Given the description of an element on the screen output the (x, y) to click on. 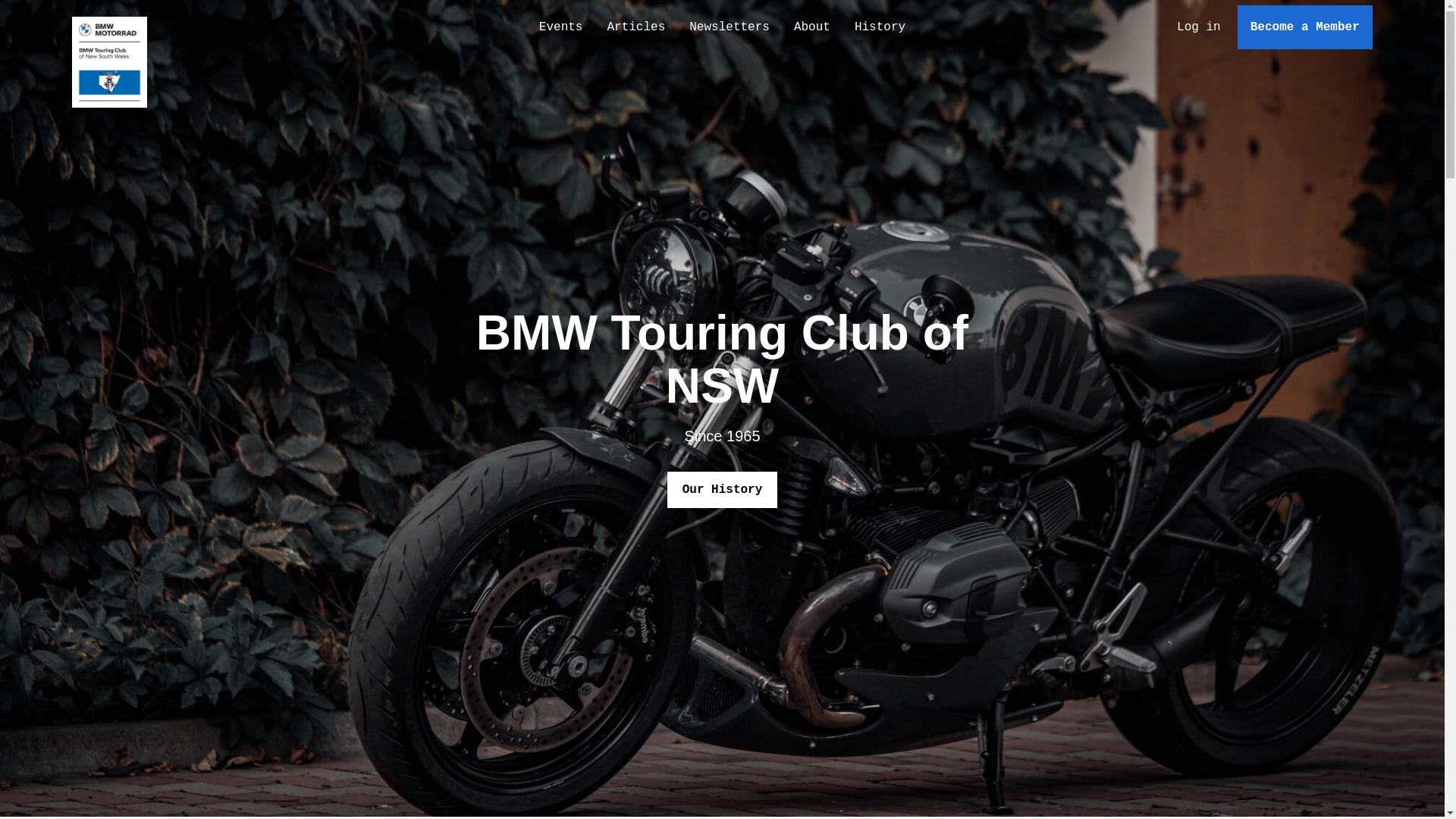
About Element type: text (811, 27)
Articles Element type: text (635, 27)
Our History Element type: text (722, 489)
Newsletters Element type: text (729, 27)
Log in Element type: text (1198, 27)
Become a Member Element type: text (1304, 27)
Events Element type: text (561, 27)
History Element type: text (879, 27)
